Given the description of an element on the screen output the (x, y) to click on. 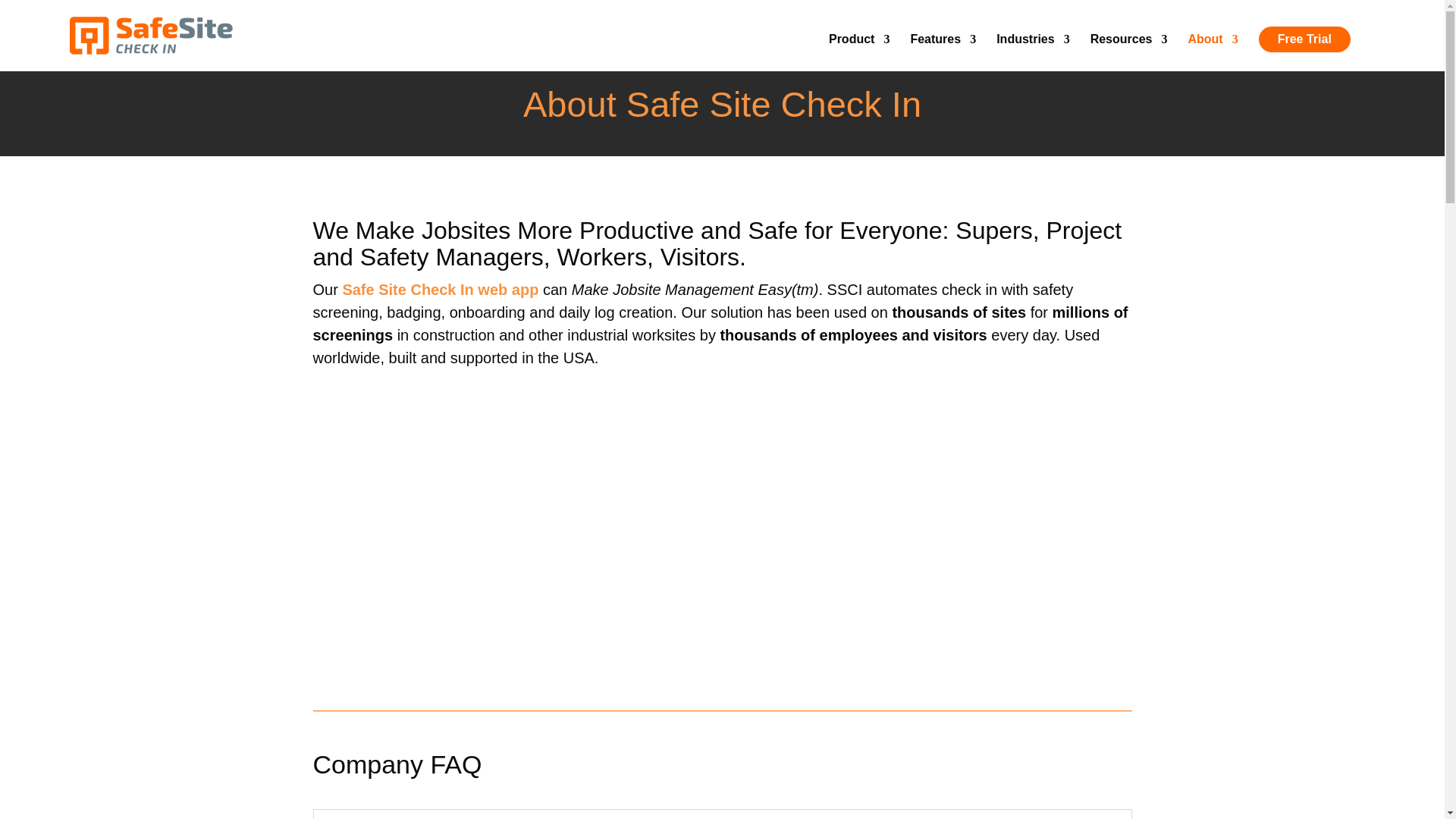
Product (858, 52)
Features (942, 52)
Resources (1128, 52)
About (1212, 52)
Industries (1031, 52)
